Given the description of an element on the screen output the (x, y) to click on. 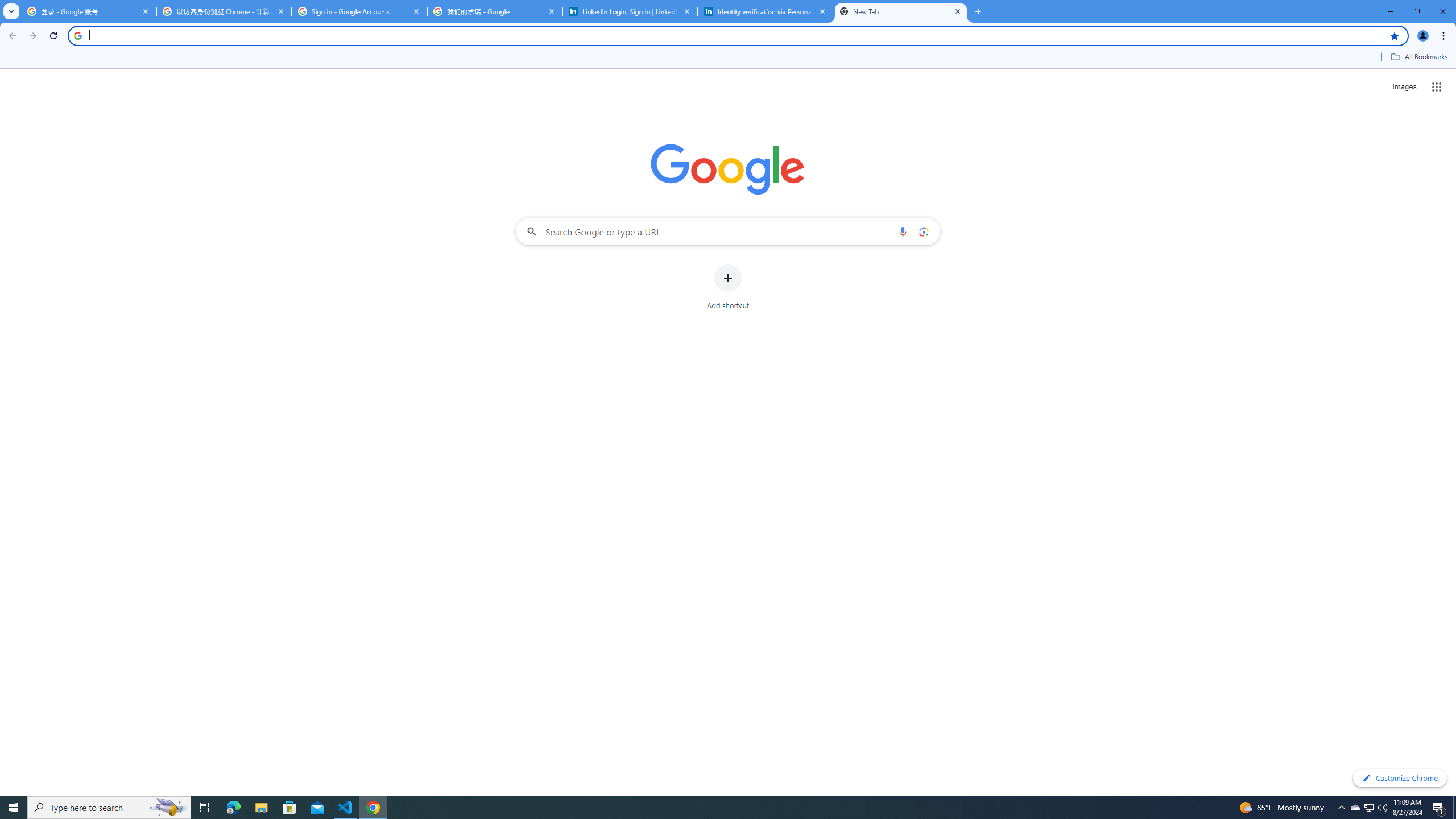
Search icon (77, 35)
All Bookmarks (1418, 56)
Address and search bar (735, 35)
Bookmarks (728, 58)
Google apps (1436, 86)
System (6, 6)
Sign in - Google Accounts (359, 11)
Search by image (922, 230)
Identity verification via Persona | LinkedIn Help (765, 11)
LinkedIn Login, Sign in | LinkedIn (630, 11)
System (6, 6)
You (1422, 35)
New Tab (901, 11)
